Given the description of an element on the screen output the (x, y) to click on. 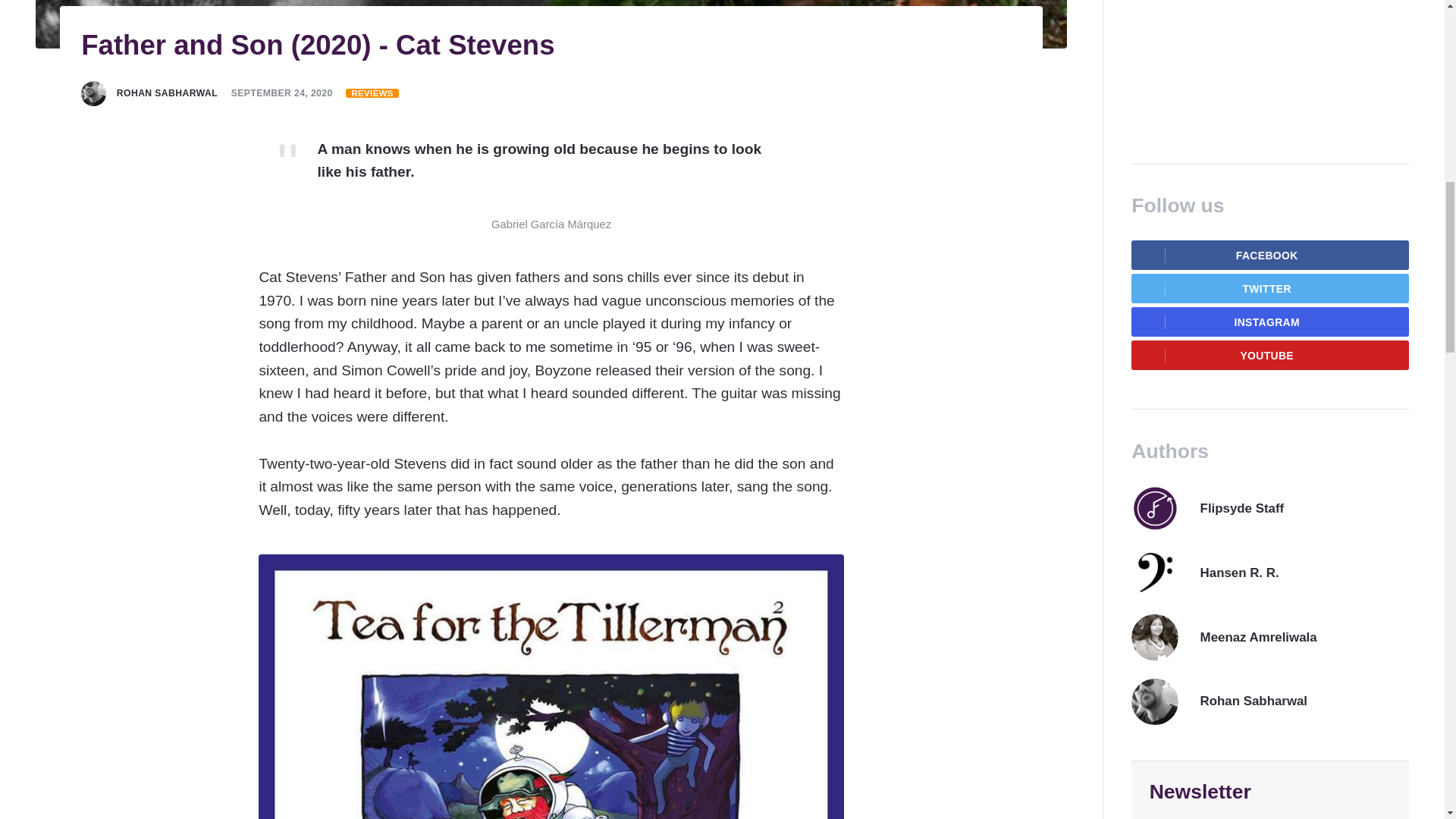
ROHAN SABHARWAL (166, 92)
Advertisement (1270, 63)
REVIEWS (371, 92)
Rohan Sabharwal (166, 92)
